Given the description of an element on the screen output the (x, y) to click on. 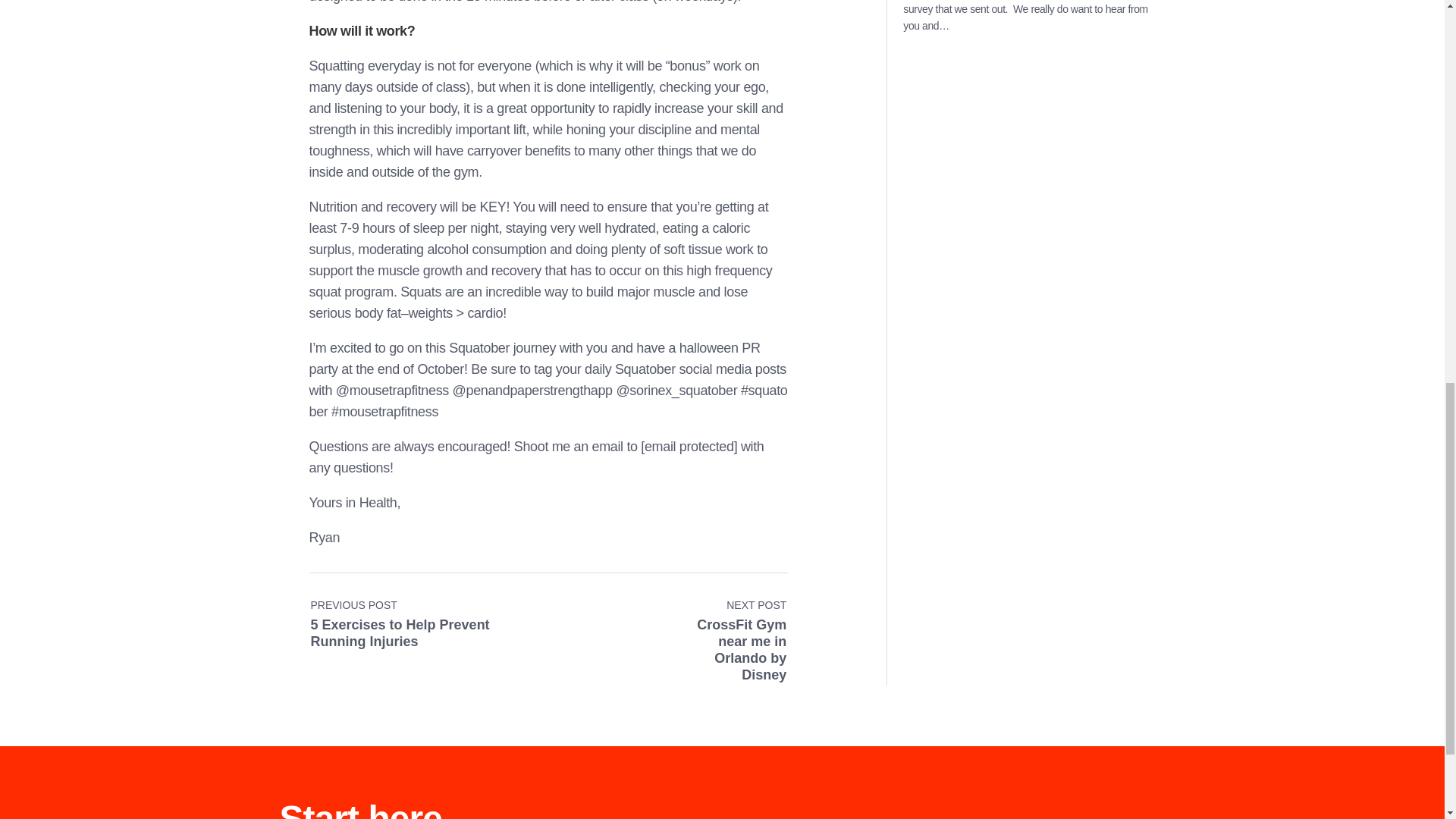
CrossFit Gym near me in Orlando by Disney (726, 615)
5 Exercises to Help Prevent Running Injuries (429, 615)
